Given the description of an element on the screen output the (x, y) to click on. 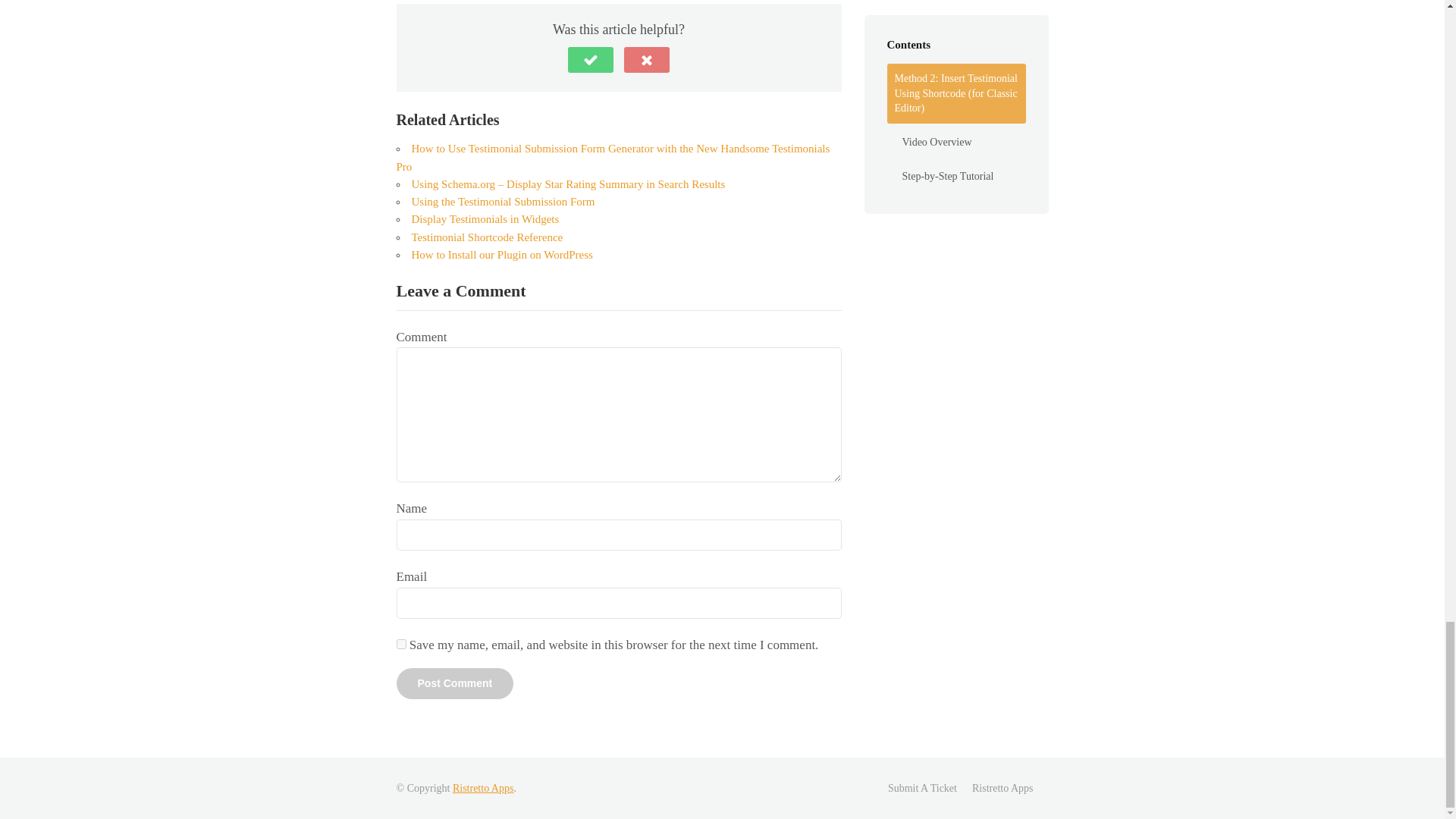
Ristretto Apps (482, 787)
Testimonial Shortcode Reference (486, 236)
Post Comment (454, 683)
Post Comment (454, 683)
yes (401, 644)
Ristretto Apps (1002, 787)
How to Install our Plugin on WordPress (501, 254)
Using the Testimonial Submission Form (502, 201)
Display Testimonials in Widgets (484, 218)
